Given the description of an element on the screen output the (x, y) to click on. 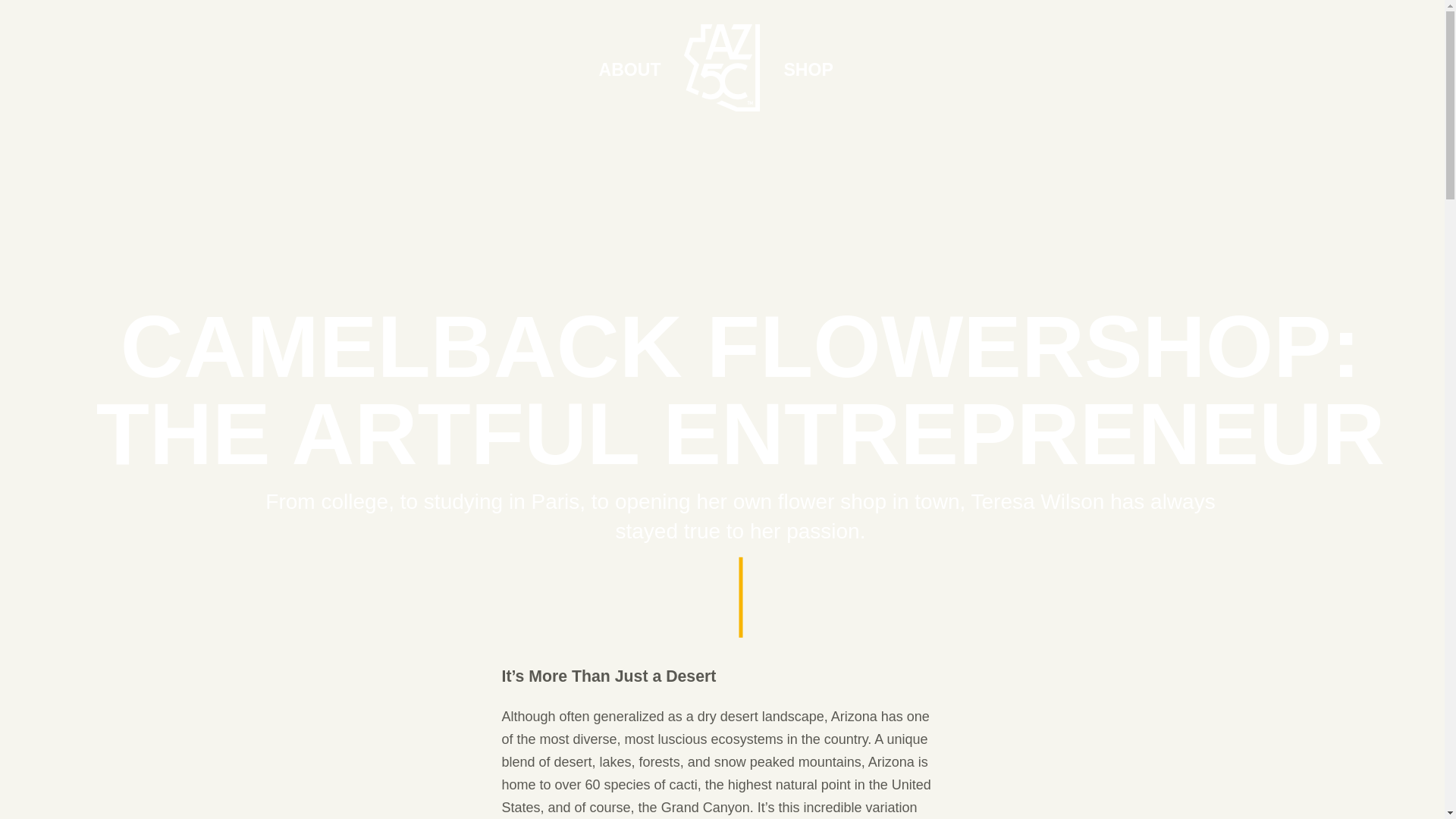
ABOUT (629, 69)
SHOP (807, 69)
